Given the description of an element on the screen output the (x, y) to click on. 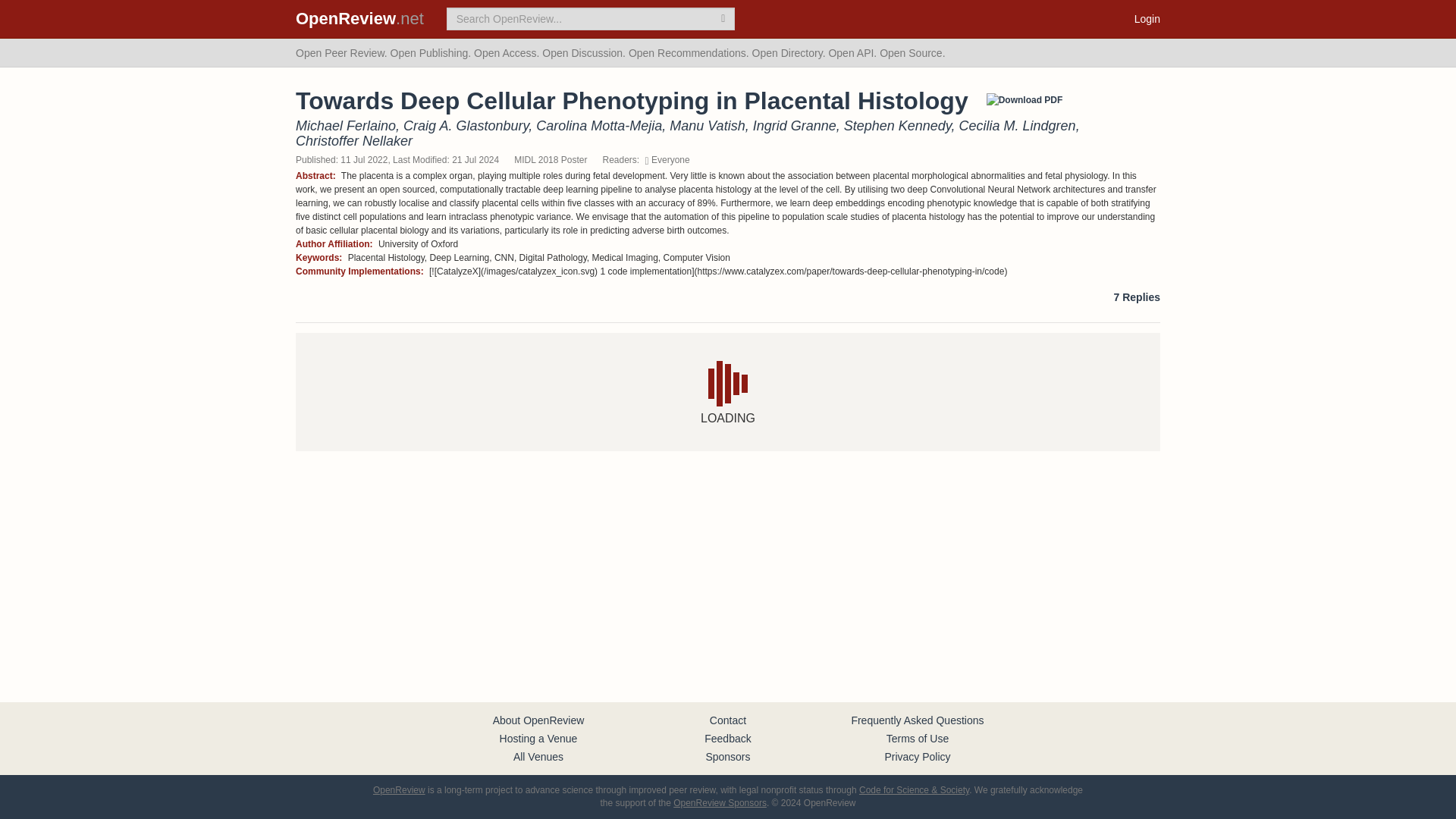
Craig A. Glastonbury (465, 125)
Terms of Use (917, 738)
All Venues (538, 756)
Privacy Policy (916, 756)
Hosting a Venue (538, 738)
Contact (727, 720)
About OpenReview (539, 720)
OpenReview Sponsors (719, 802)
OpenReview (398, 789)
Michael Ferlaino (345, 125)
